Given the description of an element on the screen output the (x, y) to click on. 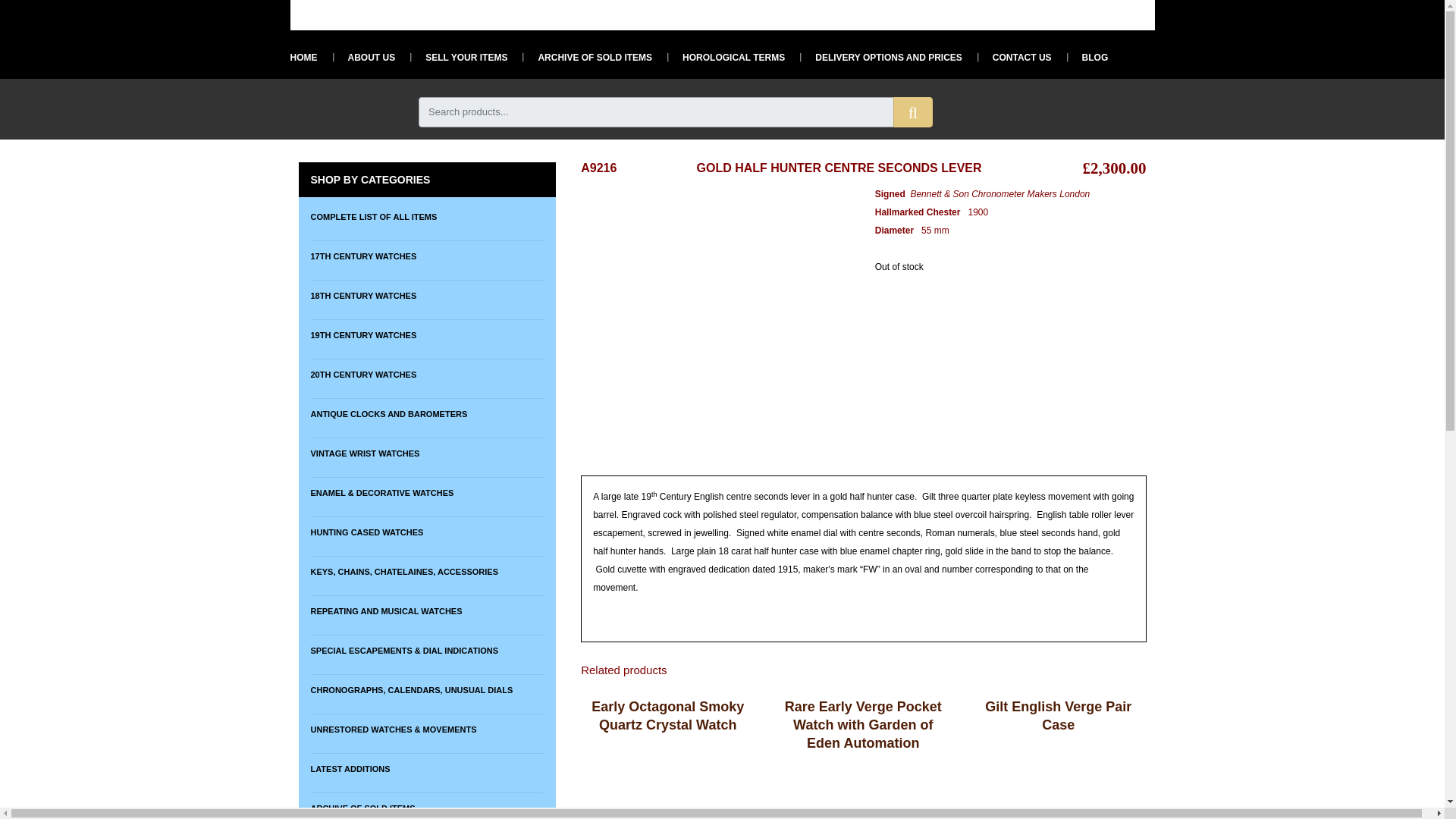
HUNTING CASED WATCHES (427, 531)
HOROLOGICAL TERMS (725, 57)
ABOUT US (362, 57)
COMPLETE LIST OF ALL ITEMS (427, 216)
ARCHIVE OF SOLD ITEMS (587, 57)
CONTACT US (1013, 57)
VINTAGE WRIST WATCHES (427, 452)
KEYS, CHAINS, CHATELAINES, ACCESSORIES (427, 571)
ANTIQUE CLOCKS AND BAROMETERS (427, 413)
DELIVERY OPTIONS AND PRICES (880, 57)
